Given the description of an element on the screen output the (x, y) to click on. 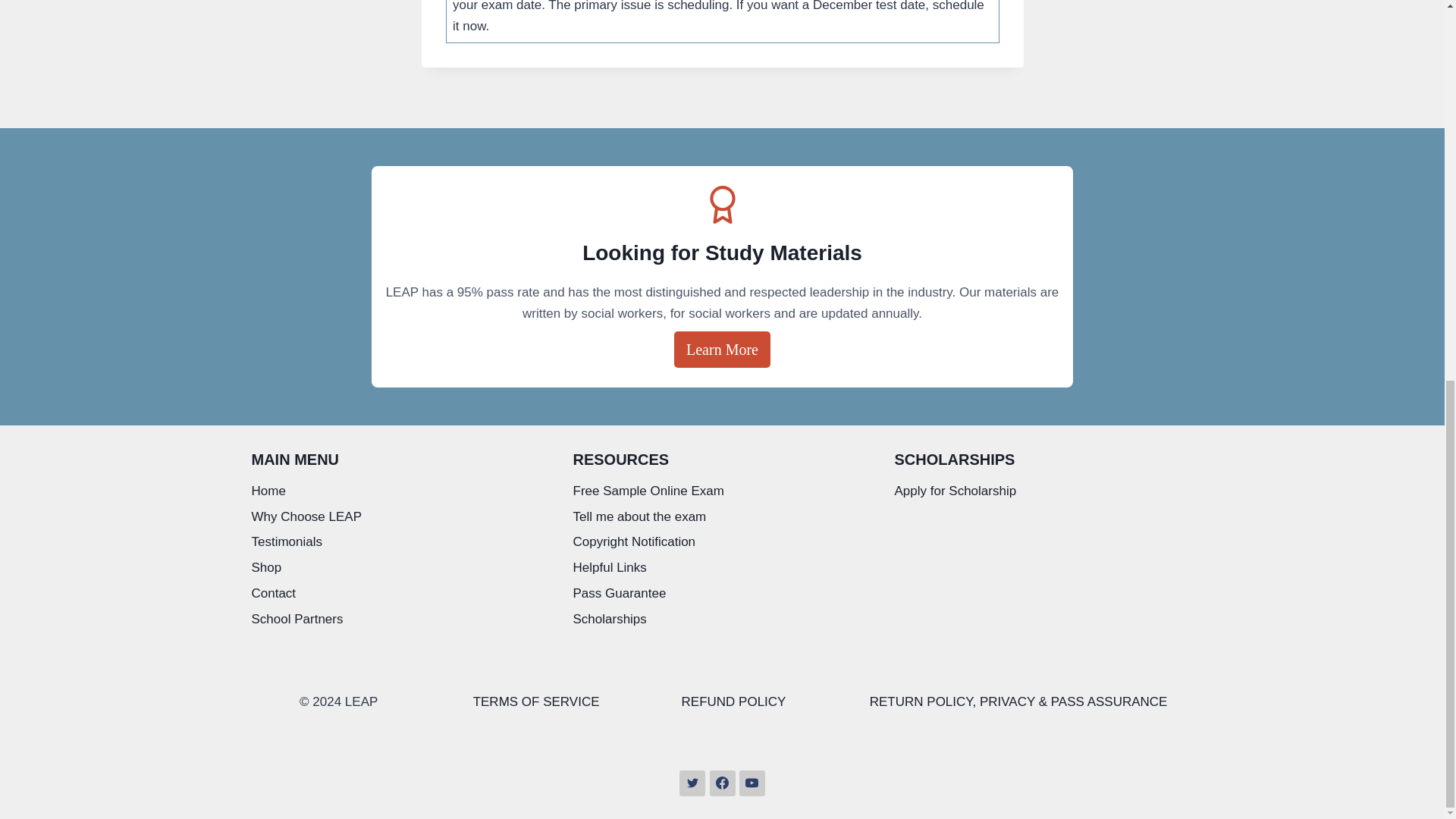
Home (400, 491)
TERMS OF SERVICE (536, 701)
Copyright Notification (722, 542)
School Partners (400, 620)
Shop (400, 568)
Contact (400, 594)
Scholarships (722, 620)
Pass Guarantee (722, 594)
Tell me about the exam (722, 516)
Apply for Scholarship (1044, 491)
Why Choose LEAP (400, 516)
Testimonials (400, 542)
Helpful Links (722, 568)
Free Sample Online Exam (722, 491)
REFUND POLICY (733, 701)
